Given the description of an element on the screen output the (x, y) to click on. 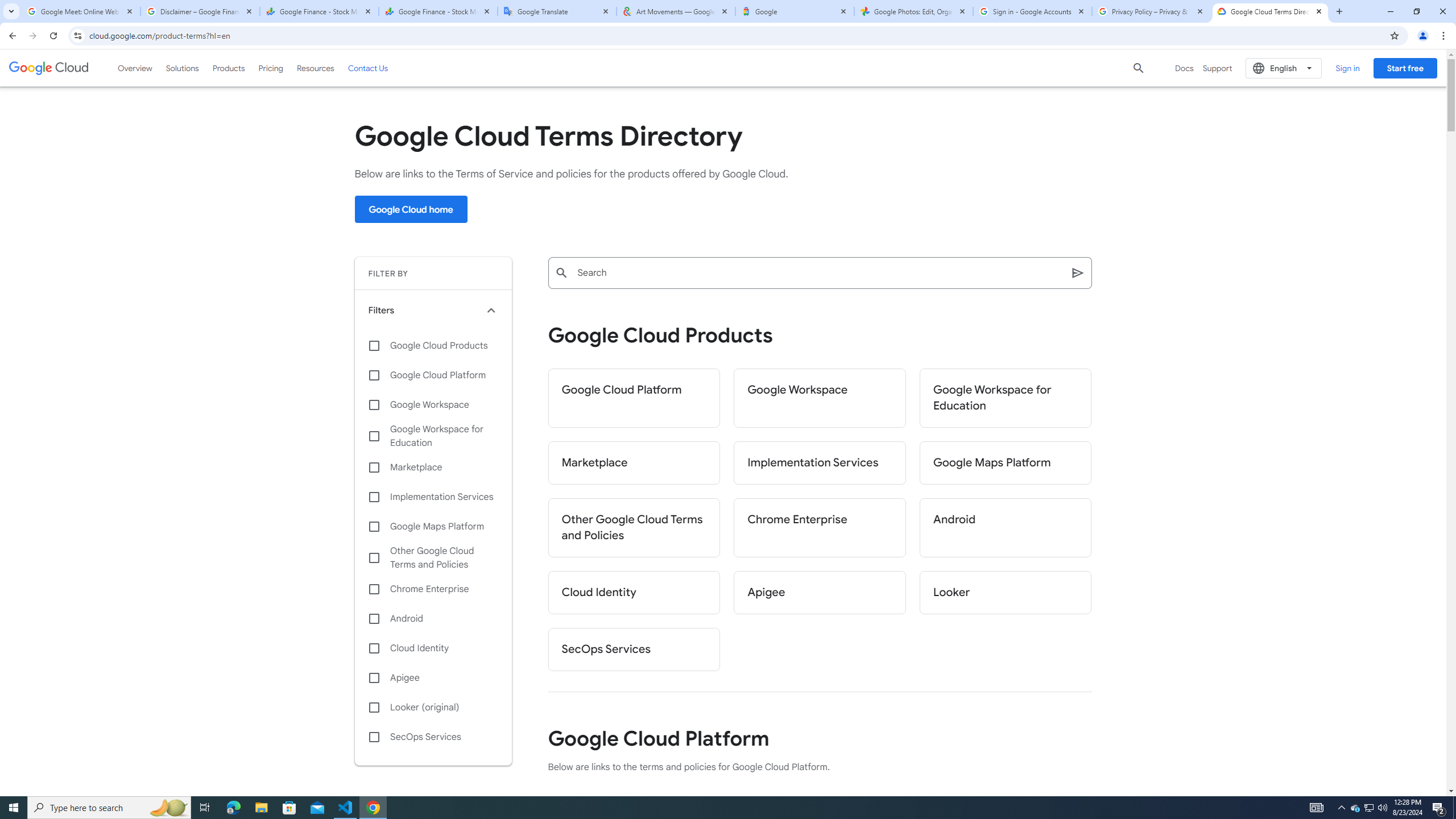
Products (228, 67)
Google Cloud Products (432, 345)
Contact Us (368, 67)
Docs (1183, 67)
Looker (1005, 592)
Google (794, 11)
Google Workspace (819, 397)
Other Google Cloud Terms and Policies (432, 557)
Google Cloud Platform (633, 397)
Implementation Services (819, 462)
Filters keyboard_arrow_up (432, 309)
